Given the description of an element on the screen output the (x, y) to click on. 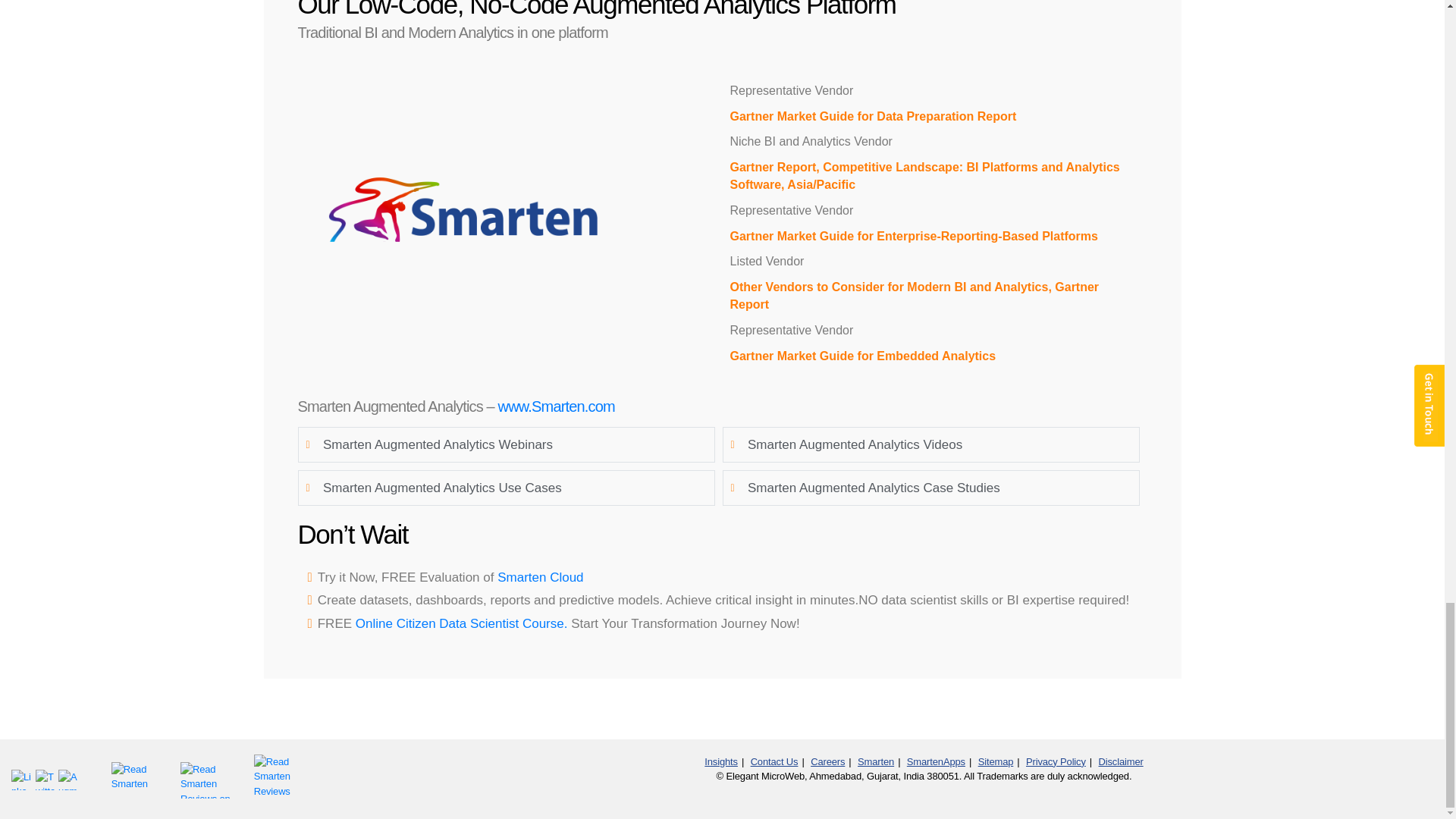
Read Smarten Reviews on GetApp (207, 776)
Read Smarten Reviews on GetApp (275, 778)
Augmented Analytics and Advanced Analytics Smarten Blog (68, 779)
LinkedIn (22, 779)
Twitter (46, 780)
